Given the description of an element on the screen output the (x, y) to click on. 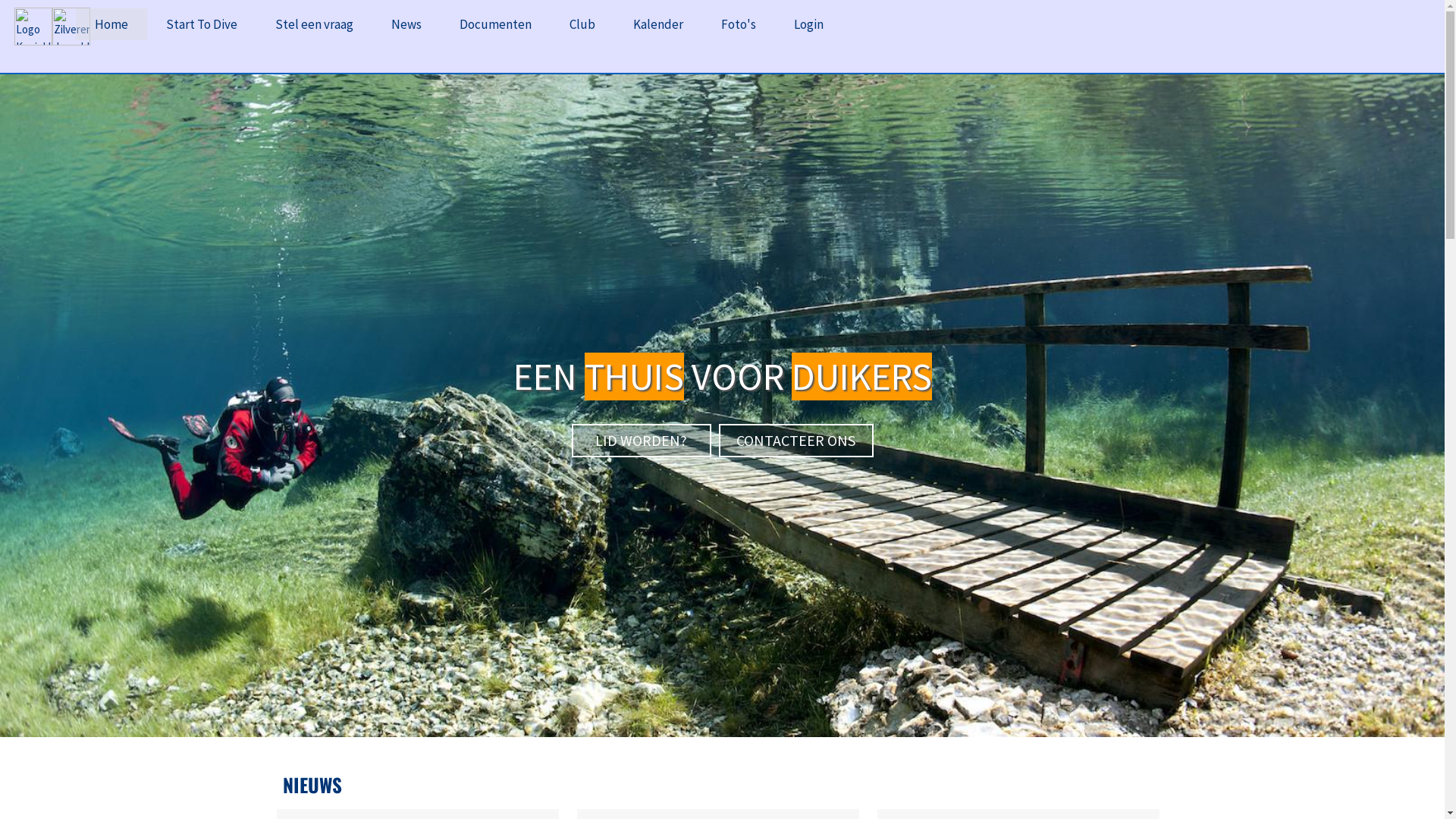
Stel een vraag Element type: text (314, 23)
Foto's Element type: text (738, 23)
News Element type: text (406, 23)
Home Element type: text (111, 23)
LID WORDEN? Element type: text (641, 439)
Start To Dive Element type: text (201, 23)
Kalender Element type: text (658, 23)
Club Element type: text (582, 23)
Documenten Element type: text (495, 23)
Login Element type: text (808, 23)
CONTACTEER ONS Element type: text (795, 439)
